Given the description of an element on the screen output the (x, y) to click on. 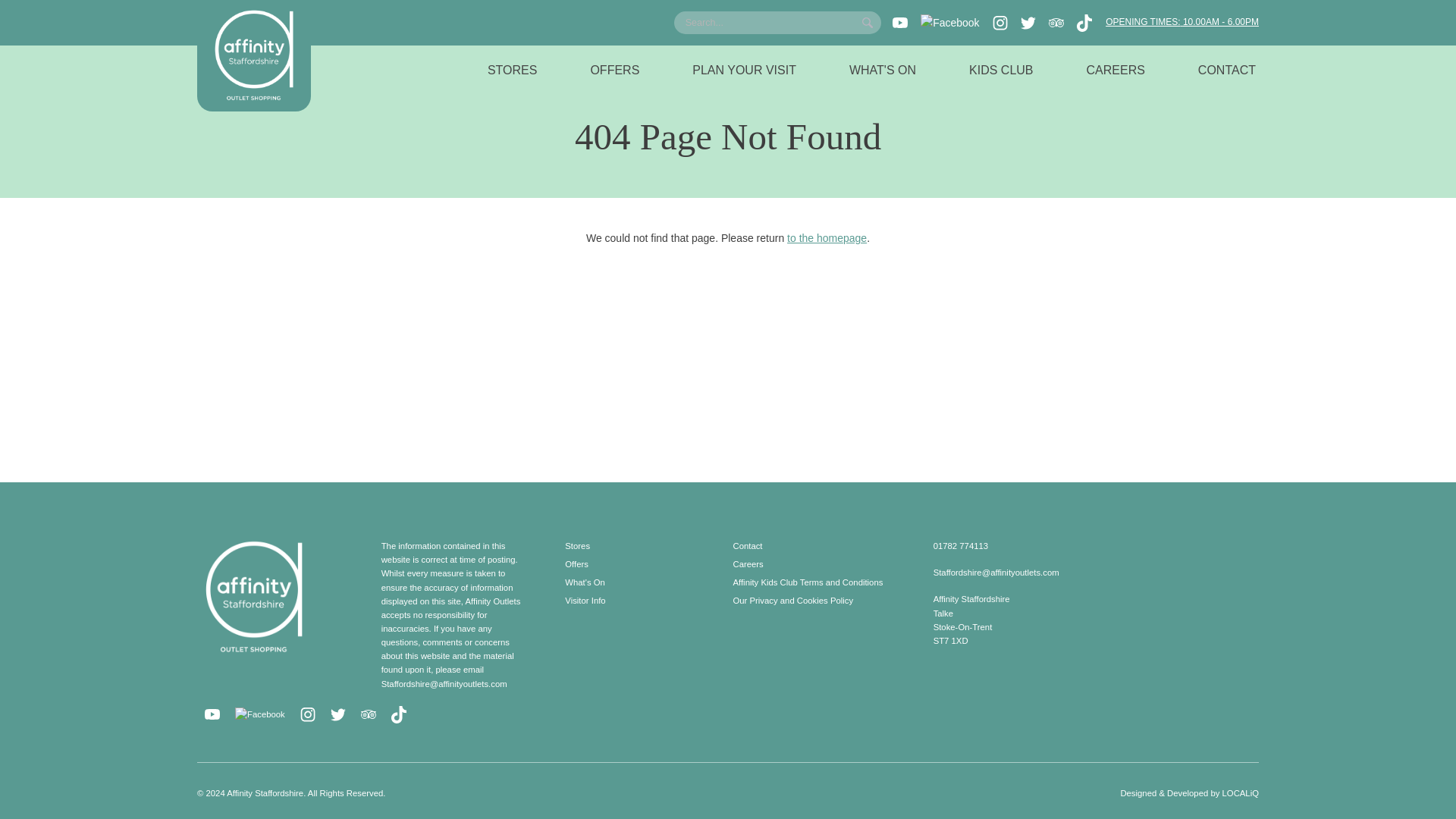
Visitor Info (584, 600)
CAREERS (1114, 70)
CONTACT (1226, 70)
01782 774113 (960, 545)
Careers (747, 563)
What's On (584, 582)
WHAT'S ON (882, 70)
Our Privacy and Cookies Policy (792, 600)
to the homepage (826, 237)
Stores (576, 545)
